Given the description of an element on the screen output the (x, y) to click on. 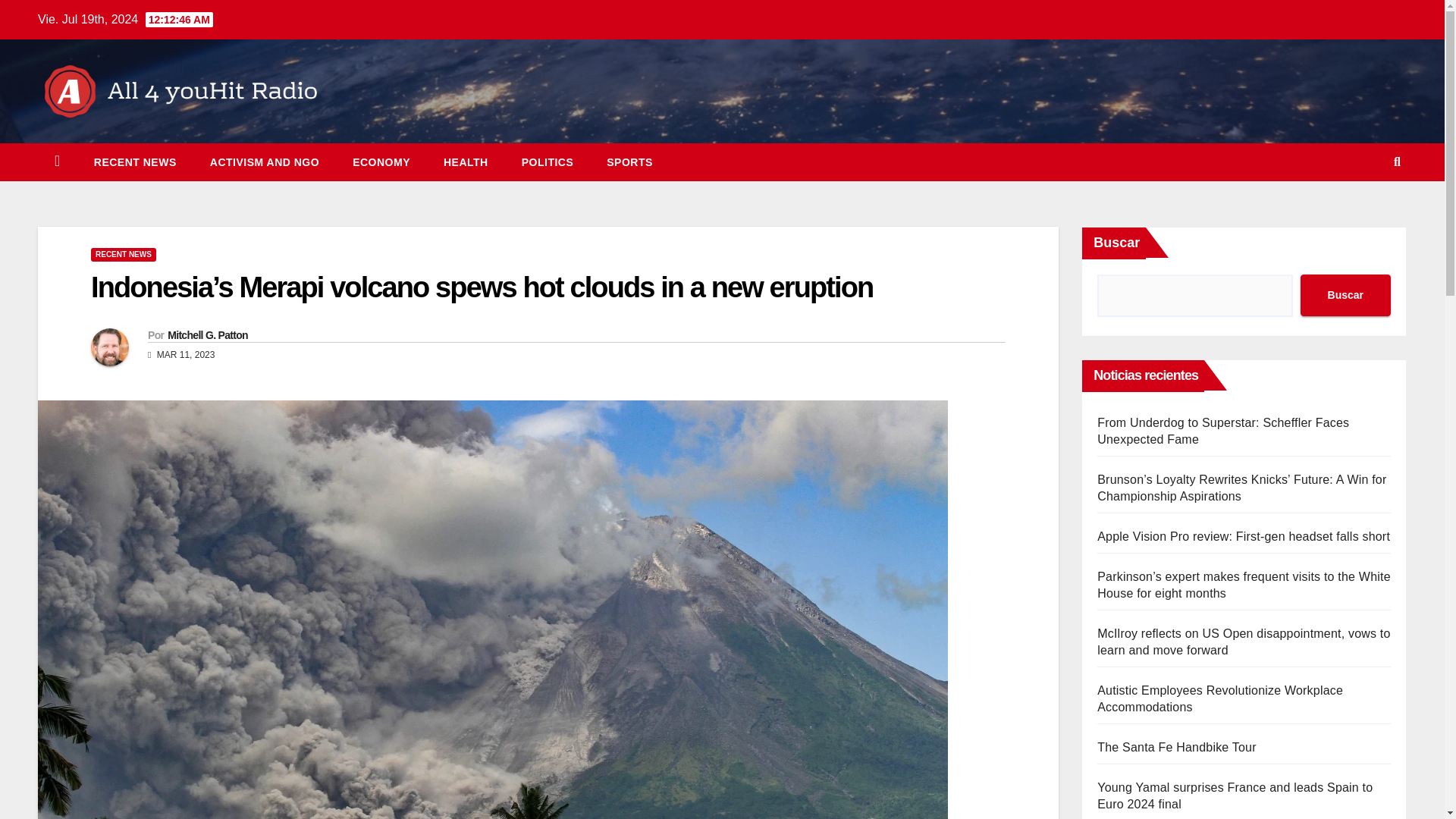
Economy (381, 161)
Buscar (1345, 295)
POLITICS (548, 161)
ACTIVISM AND NGO (264, 161)
RECENT NEWS (135, 161)
From Underdog to Superstar: Scheffler Faces Unexpected Fame (1223, 430)
Recent news (135, 161)
Activism and NGO (264, 161)
RECENT NEWS (122, 254)
SPORTS (629, 161)
Sports (629, 161)
ECONOMY (381, 161)
Mitchell G. Patton (207, 335)
Politics (548, 161)
HEALTH (465, 161)
